Given the description of an element on the screen output the (x, y) to click on. 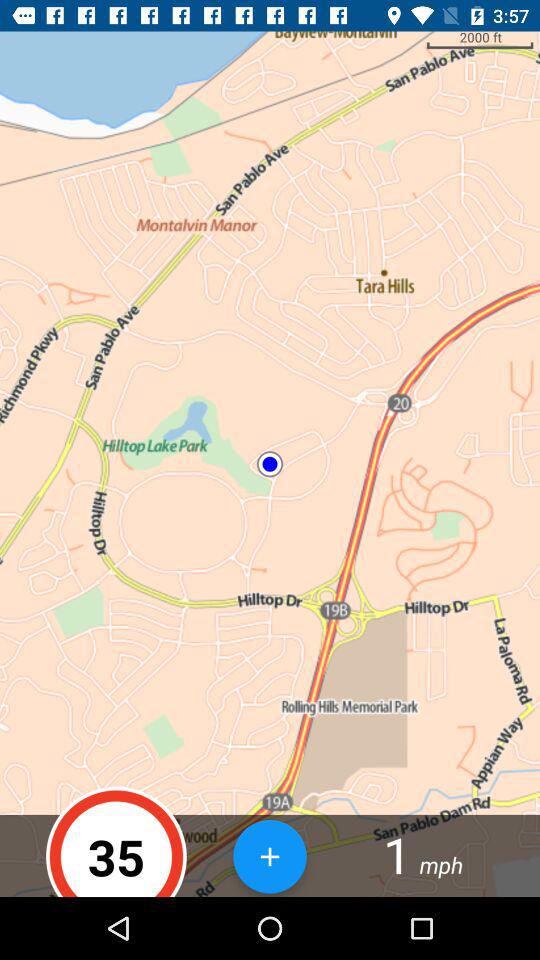
adding button (269, 856)
